Given the description of an element on the screen output the (x, y) to click on. 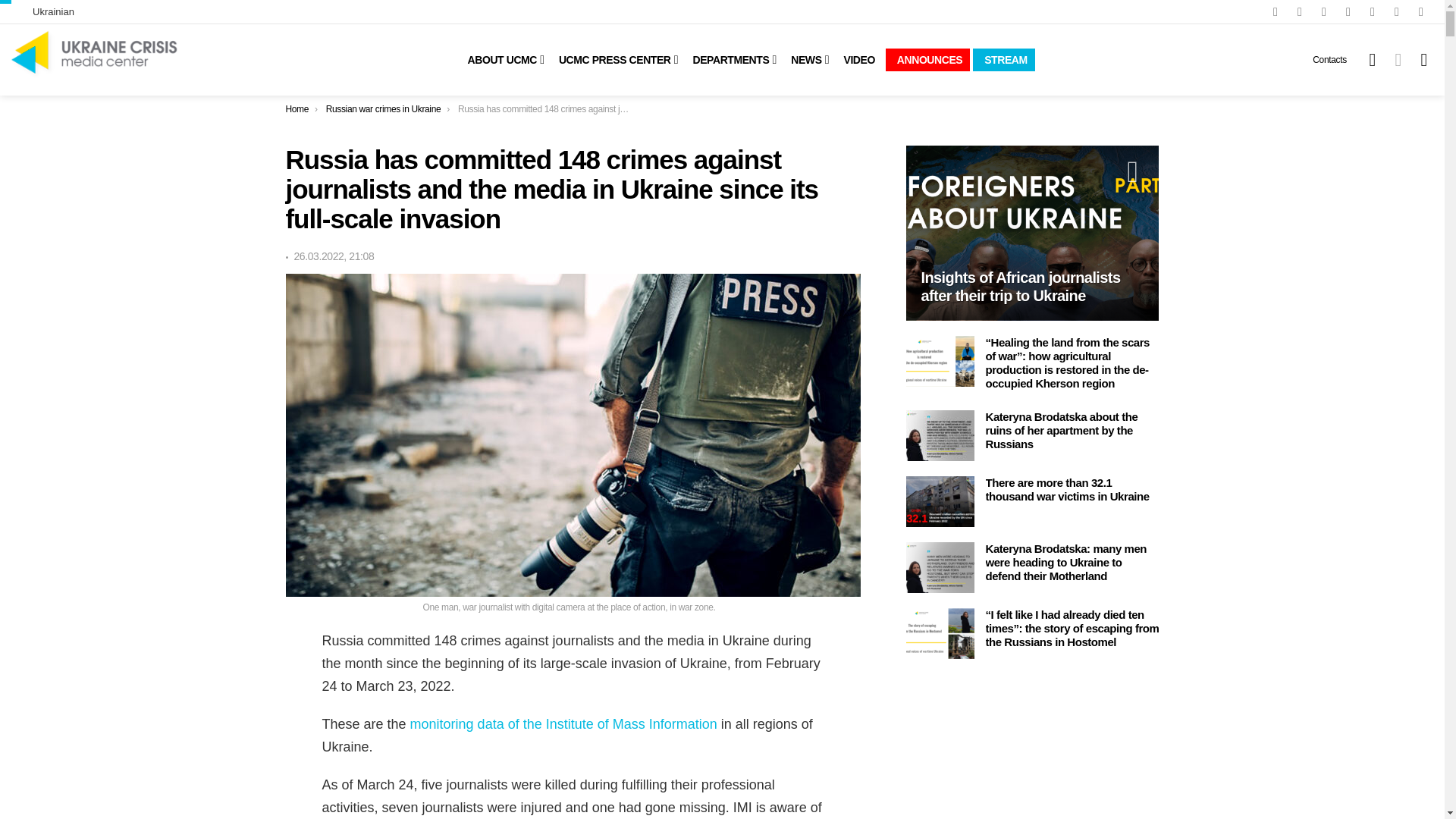
tumblr (1420, 11)
NEWS (803, 59)
Insights of African journalists after their trip to Ukraine (1031, 232)
youtube (1323, 11)
ABOUT UCMC (500, 59)
telegram (1396, 11)
UCMC PRESS CENTER (612, 59)
facebook (1275, 11)
DEPARTMENTS (728, 59)
